Given the description of an element on the screen output the (x, y) to click on. 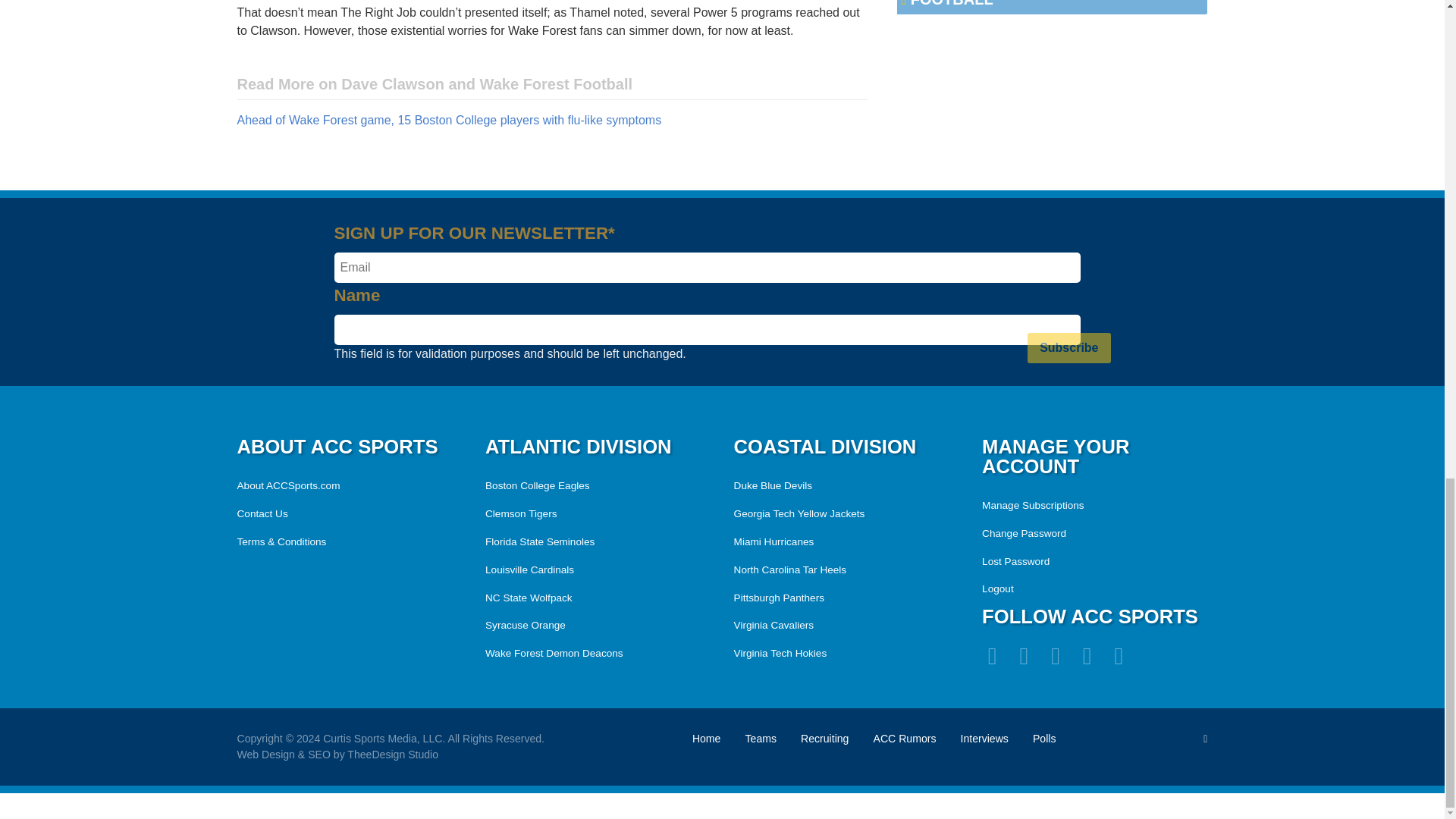
Subscribe (1068, 347)
